Given the description of an element on the screen output the (x, y) to click on. 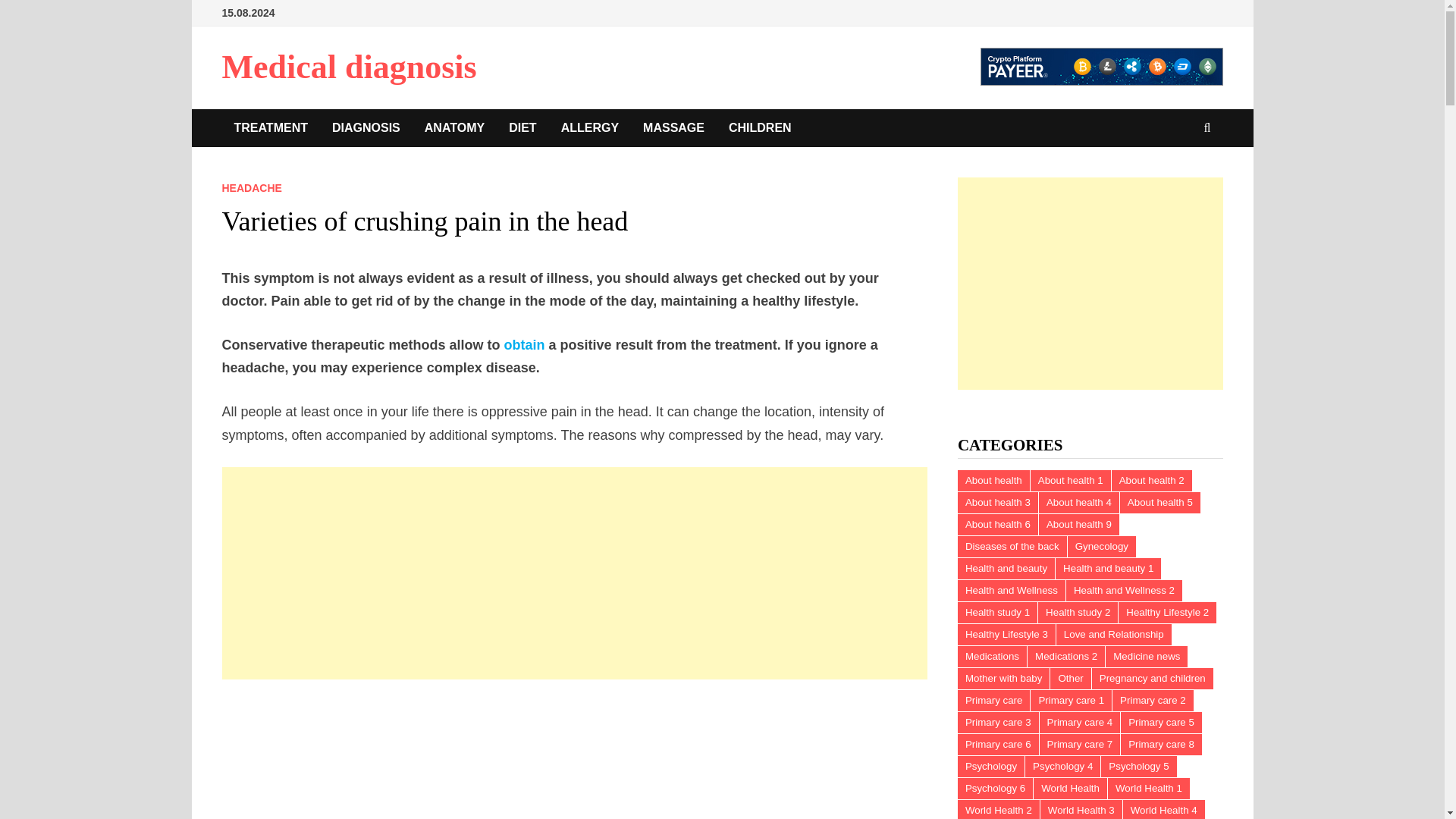
HEADACHE (251, 187)
ANATOMY (454, 127)
Medical diagnosis (348, 66)
CHILDREN (759, 127)
obtain (523, 344)
TREATMENT (269, 127)
ALLERGY (589, 127)
Advertisement (574, 759)
DIAGNOSIS (366, 127)
MASSAGE (673, 127)
